Given the description of an element on the screen output the (x, y) to click on. 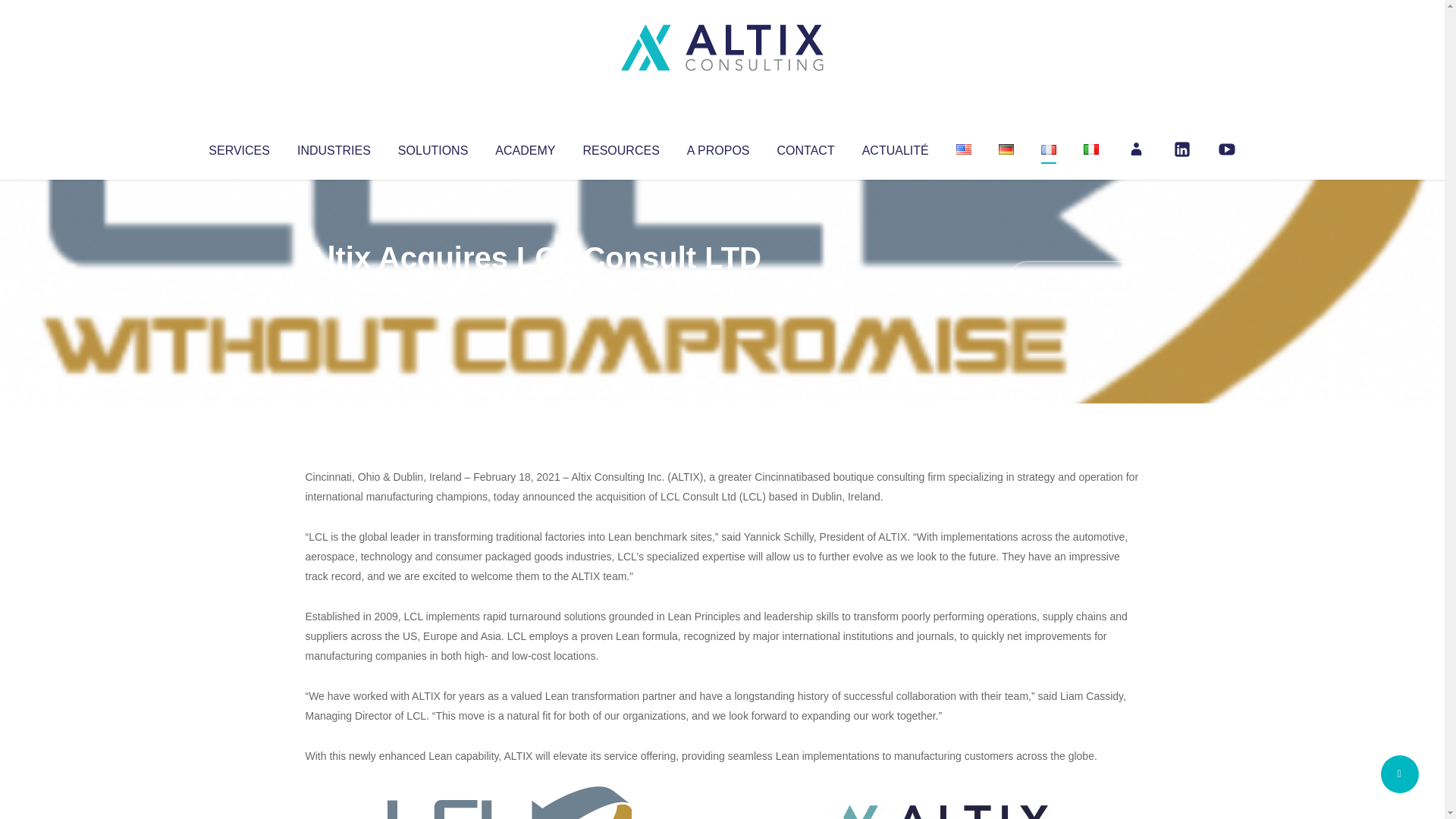
INDUSTRIES (334, 146)
SERVICES (238, 146)
RESOURCES (620, 146)
Articles par Altix (333, 287)
Uncategorized (530, 287)
SOLUTIONS (432, 146)
Altix (333, 287)
A PROPOS (718, 146)
No Comments (1073, 278)
ACADEMY (524, 146)
